Given the description of an element on the screen output the (x, y) to click on. 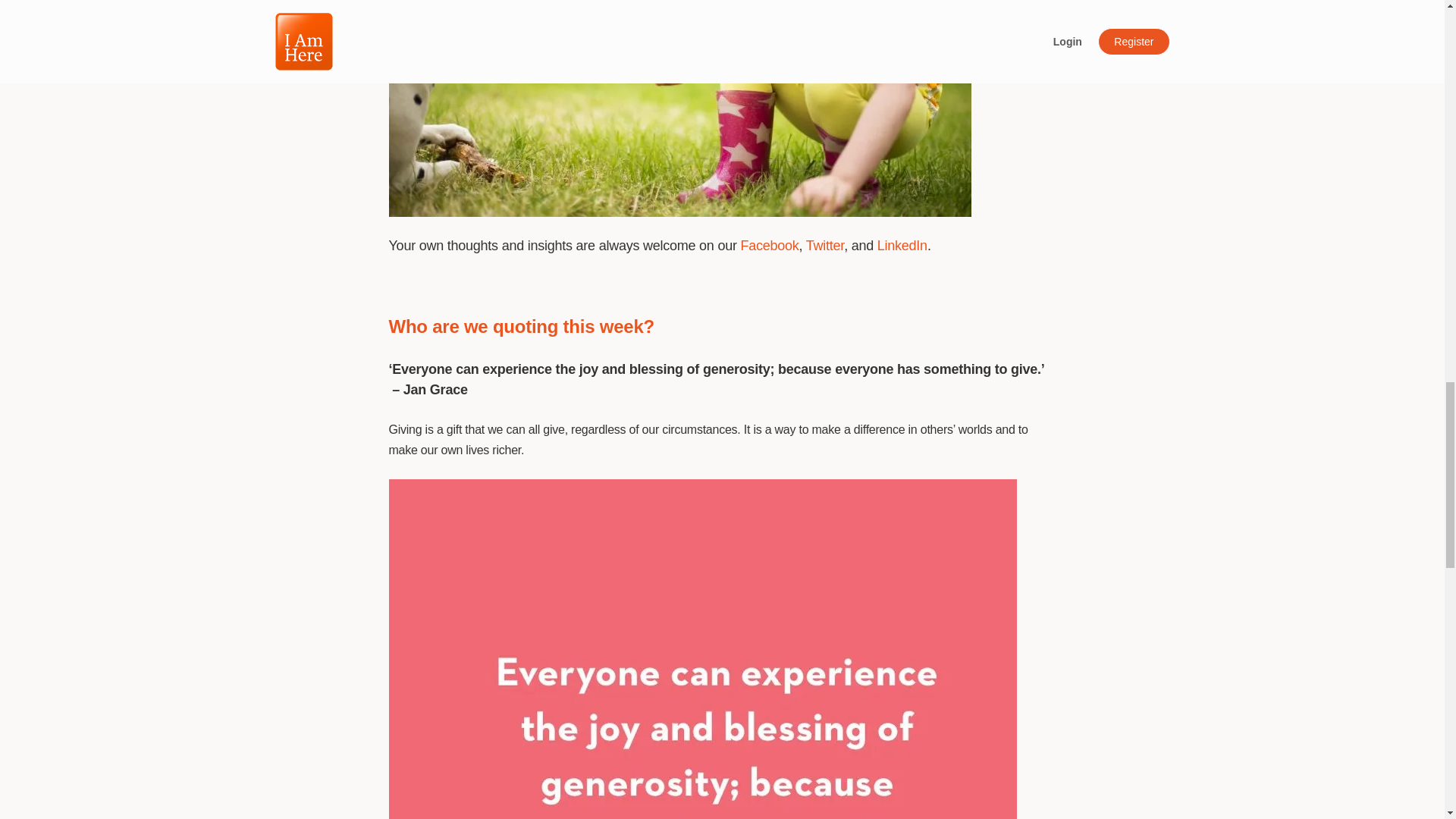
LinkedIn (902, 245)
Facebook (768, 245)
Twitter (825, 245)
